Given the description of an element on the screen output the (x, y) to click on. 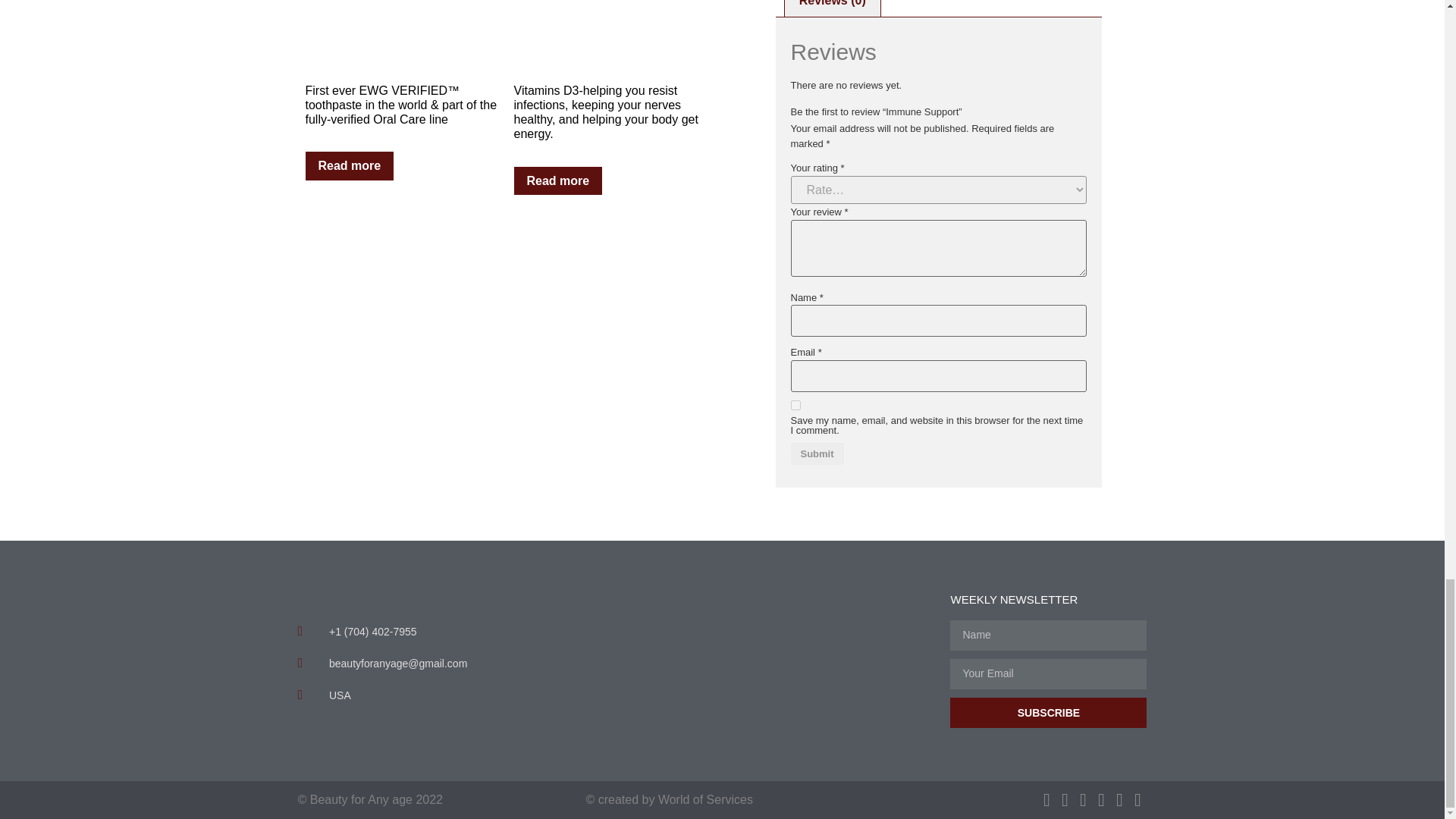
yes (794, 405)
Submit (816, 454)
